Given the description of an element on the screen output the (x, y) to click on. 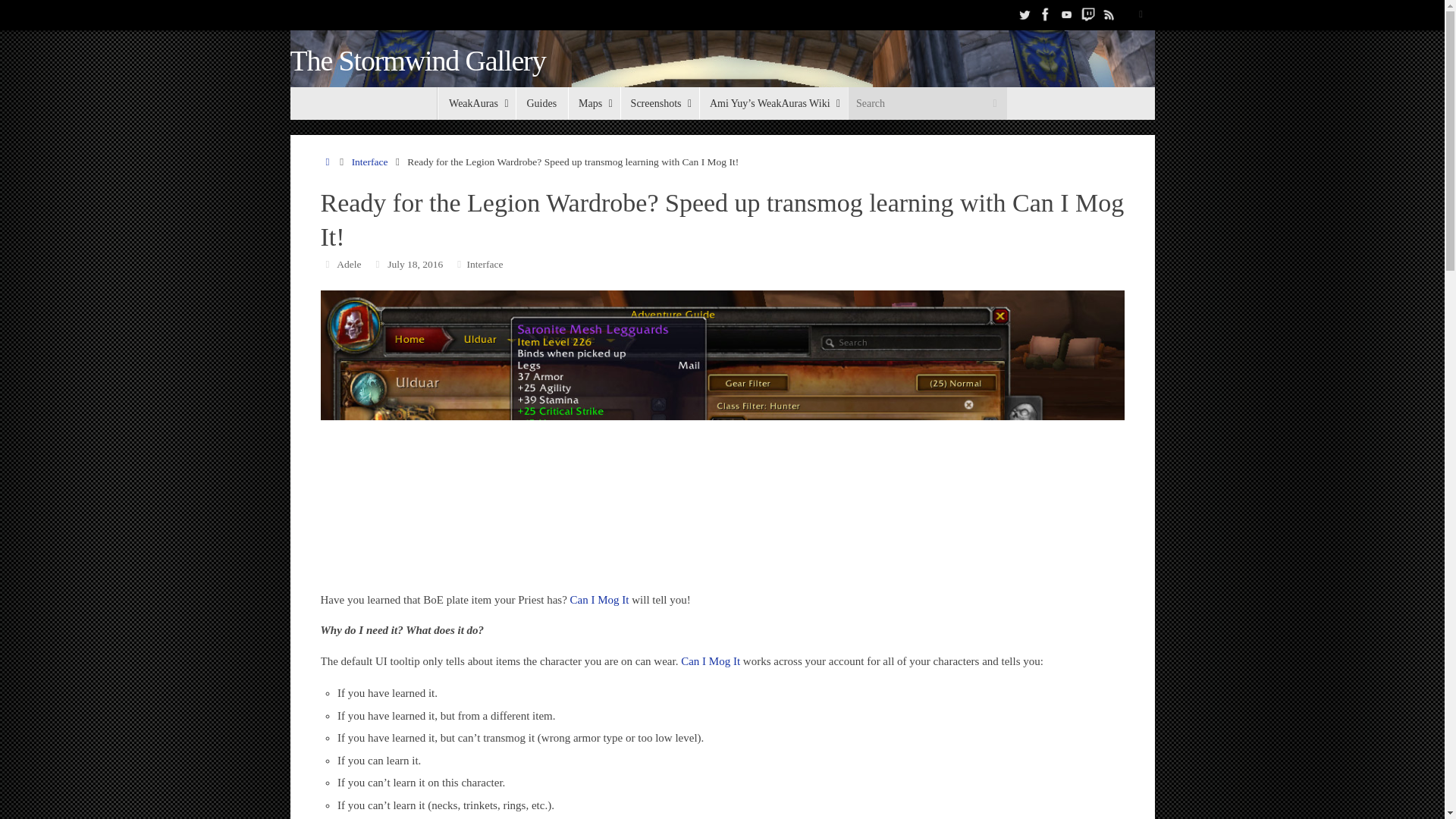
Facebook (1044, 14)
YouTube (1066, 14)
Can I Mog It (599, 599)
Categories (458, 264)
View all posts by Adele (348, 264)
Can I Mog It (710, 661)
Screenshots (659, 102)
Date (378, 264)
The Stormwind Gallery (416, 60)
Guides (541, 102)
July 18, 2016 (414, 264)
Interface (370, 161)
Adele (348, 264)
The Stormwind Gallery (416, 60)
Author  (327, 264)
